Given the description of an element on the screen output the (x, y) to click on. 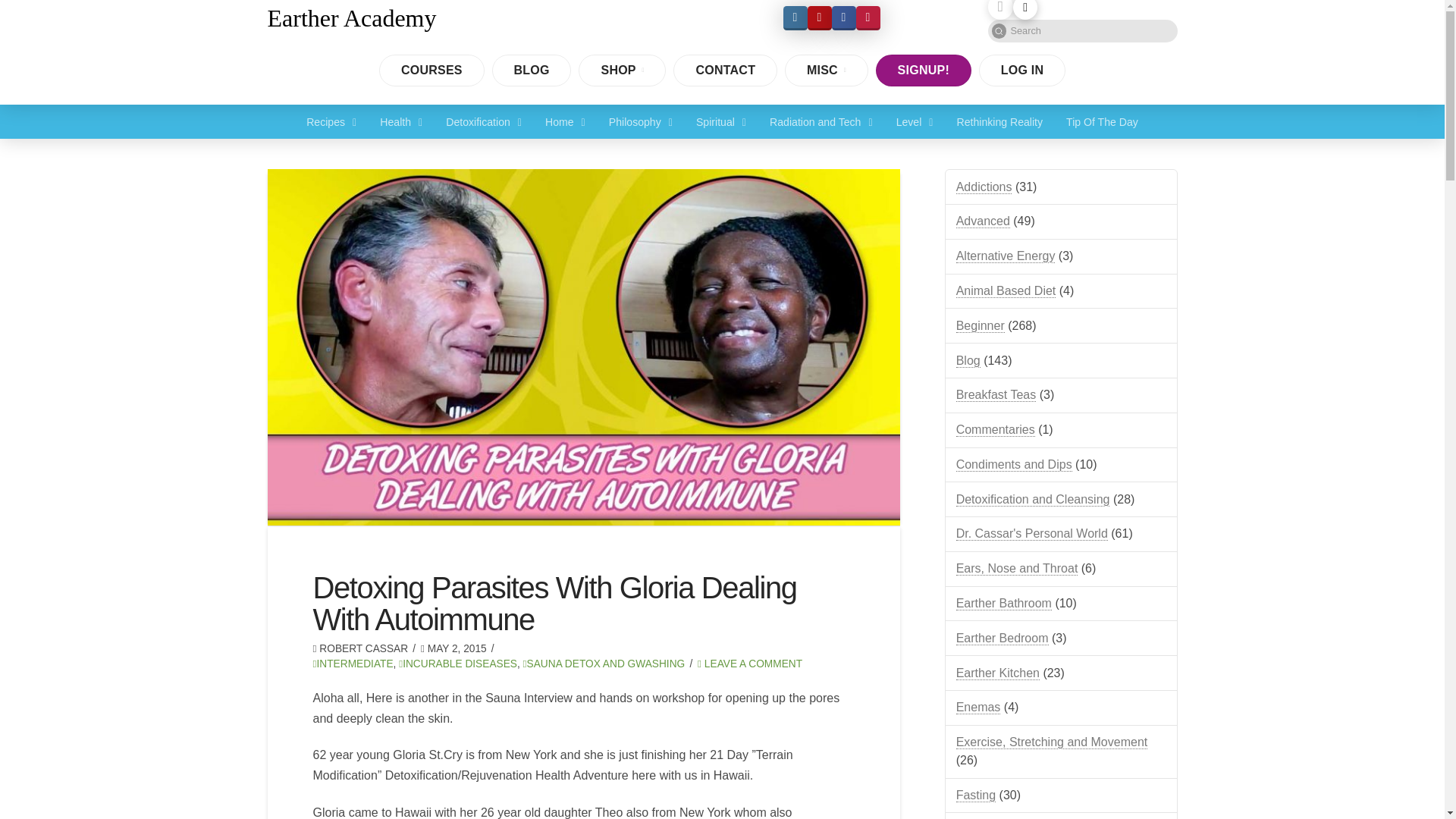
SIGNUP! (923, 70)
COURSES (431, 70)
SHOP (621, 70)
Recipes (331, 121)
Earther Academy (350, 18)
LOG IN (1021, 70)
Health (400, 121)
BLOG (532, 70)
MISC (825, 70)
Submit (998, 30)
CONTACT (724, 70)
